Given the description of an element on the screen output the (x, y) to click on. 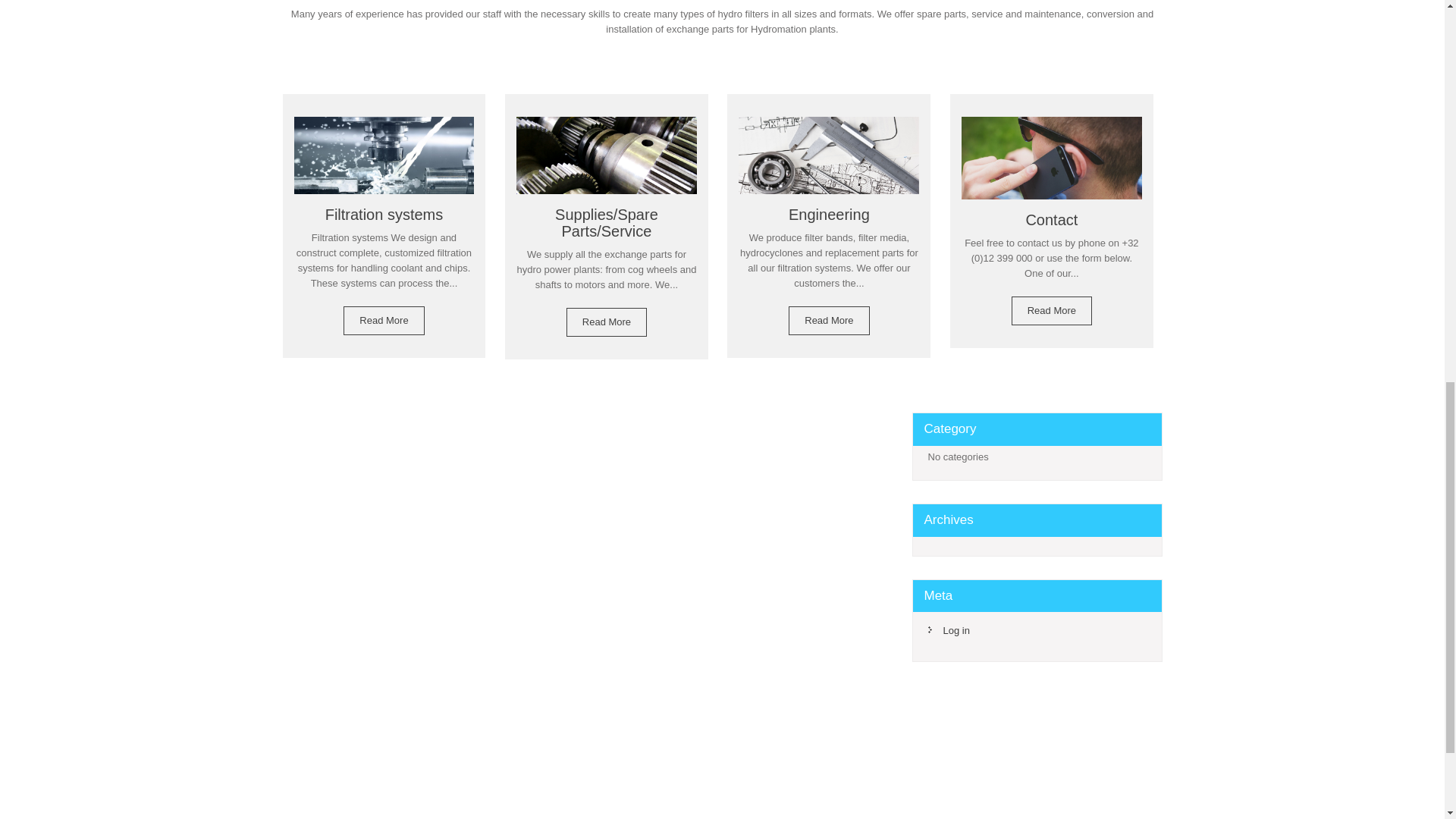
Read More (383, 320)
Filtration systems (384, 169)
